Given the description of an element on the screen output the (x, y) to click on. 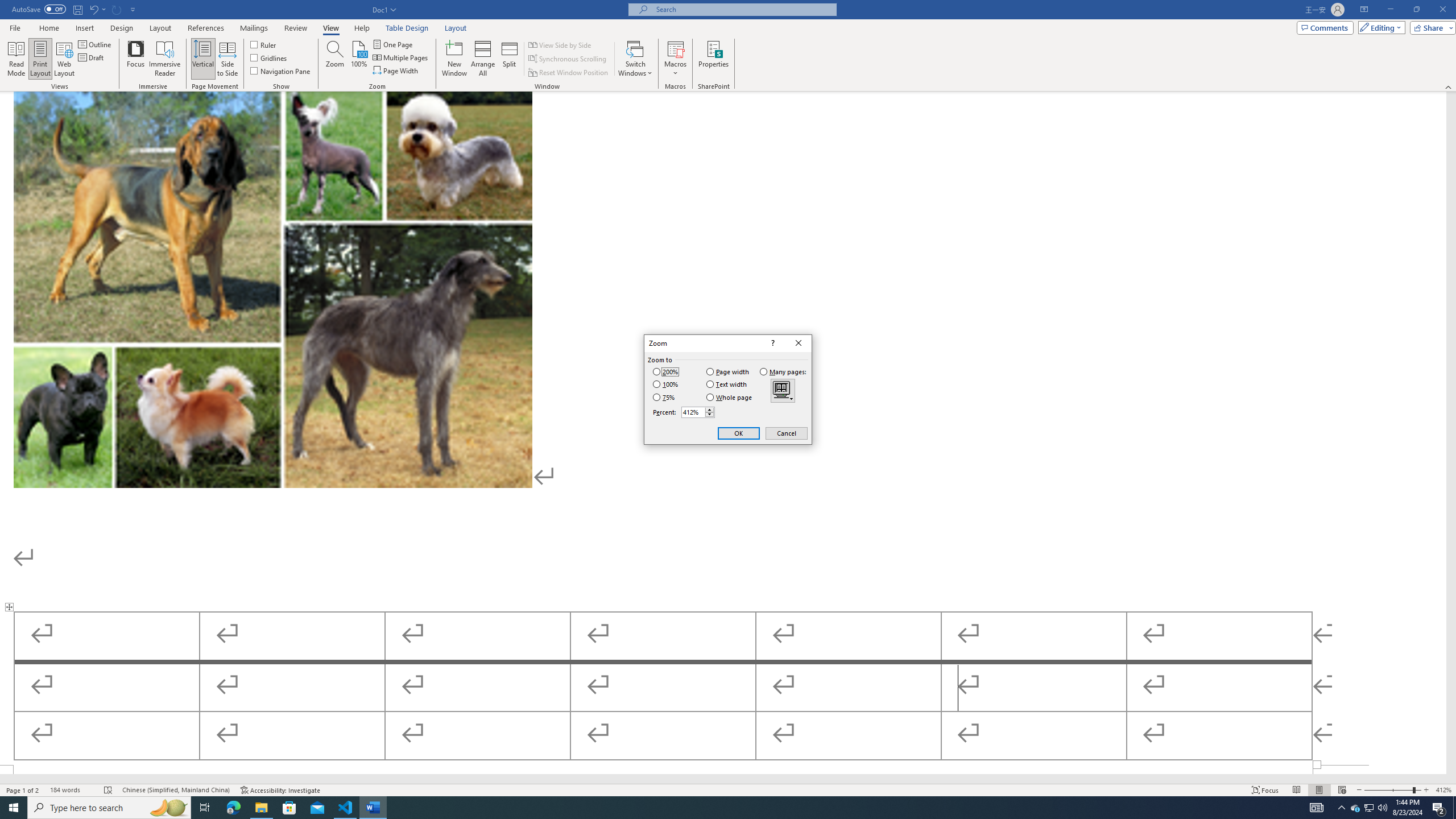
Gridlines (269, 56)
Zoom... (334, 58)
Morphological variation in six dogs (272, 288)
